Given the description of an element on the screen output the (x, y) to click on. 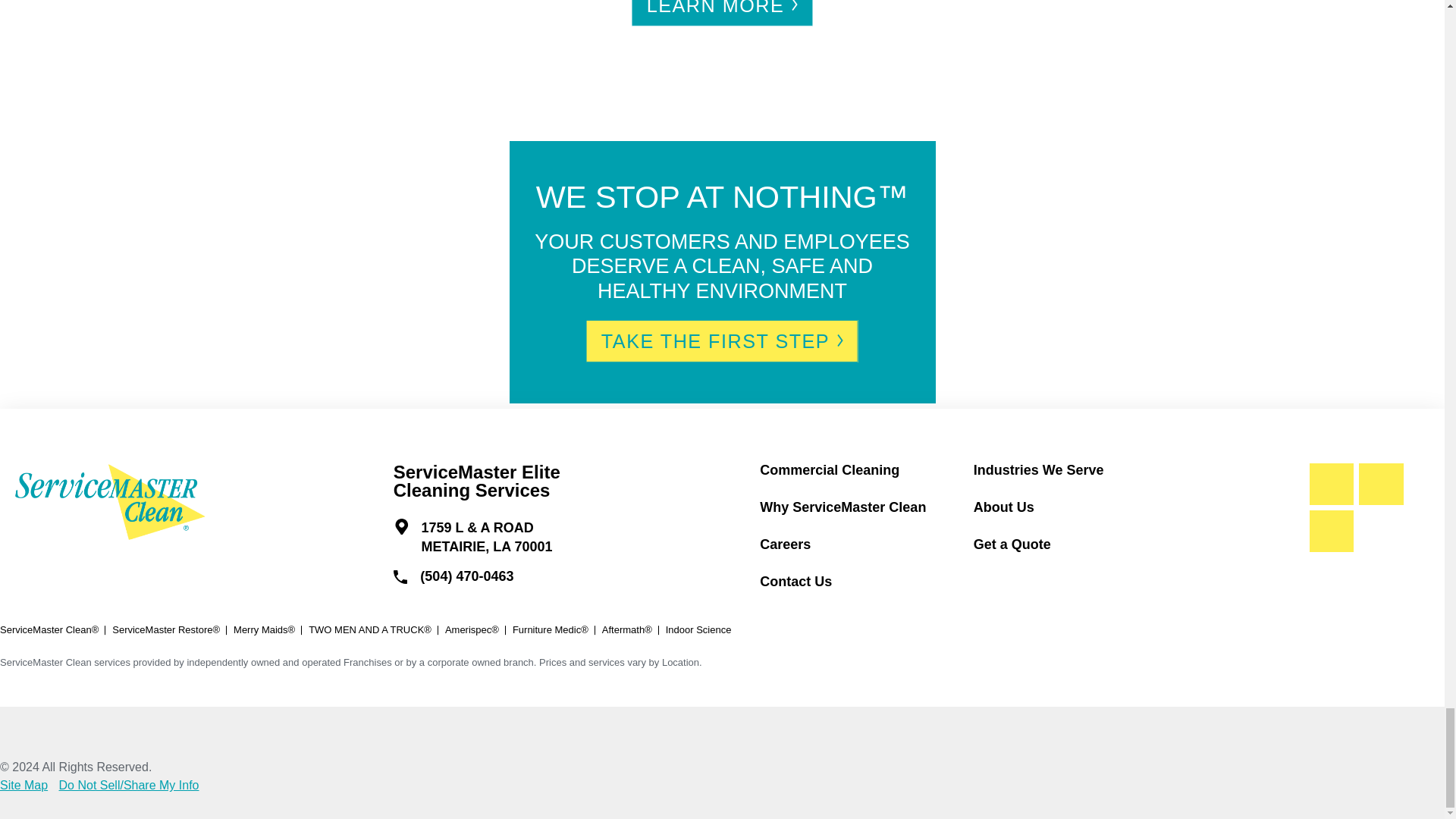
ServiceMaster Elite Cleaning Services (110, 501)
LinkedIn (1380, 484)
Twitter (1331, 531)
Facebook (1331, 484)
